Given the description of an element on the screen output the (x, y) to click on. 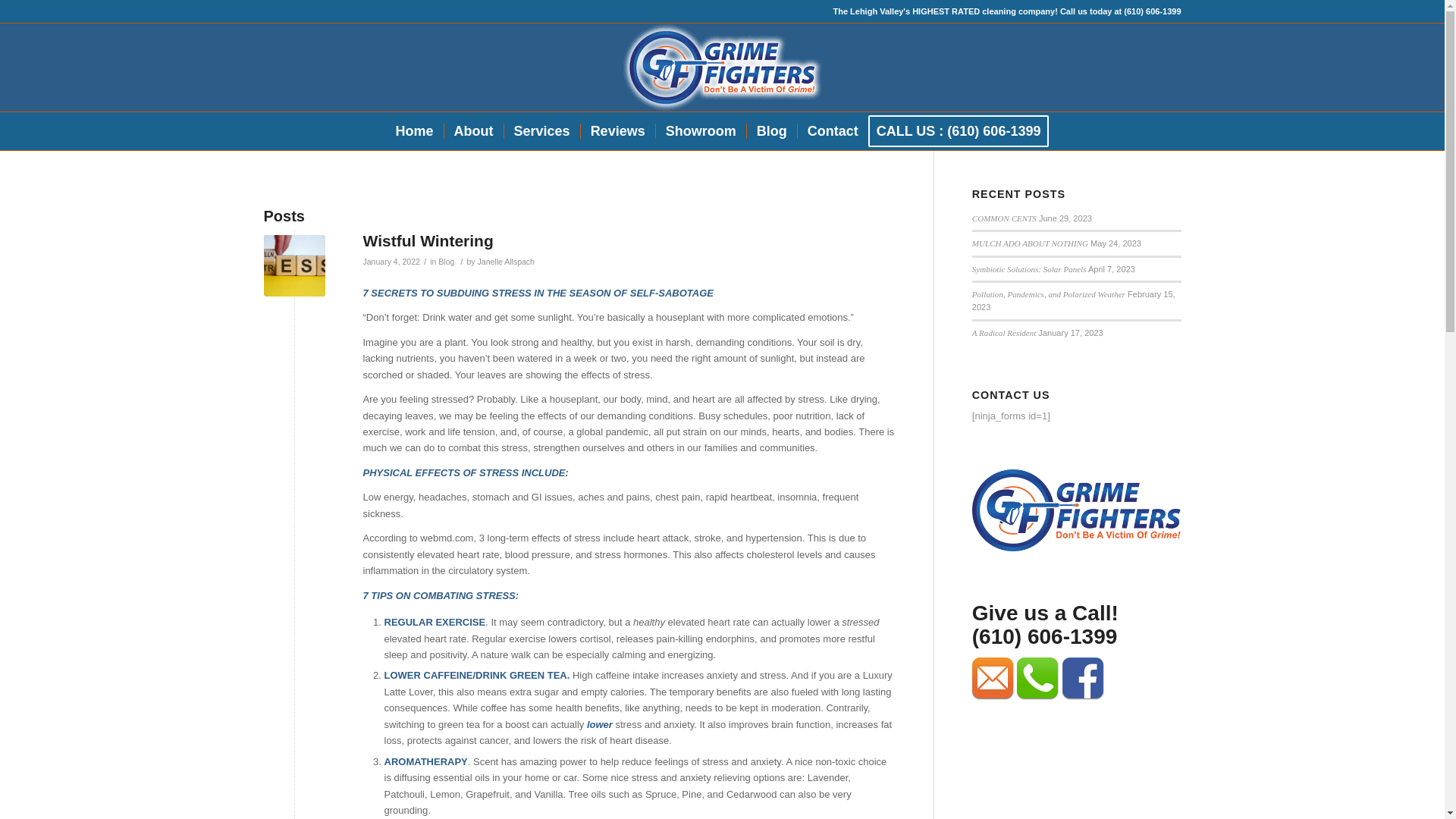
Reviews (617, 130)
Permanent Link: Wistful Wintering (427, 240)
Wistful Wintering (293, 265)
Symbiotic Solutions: Solar Panels (1029, 268)
Showroom (700, 130)
MULCH ADO ABOUT NOTHING (1029, 243)
COMMON CENTS (1004, 217)
Blog (770, 130)
Services (541, 130)
A Radical Resident (1003, 332)
